Given the description of an element on the screen output the (x, y) to click on. 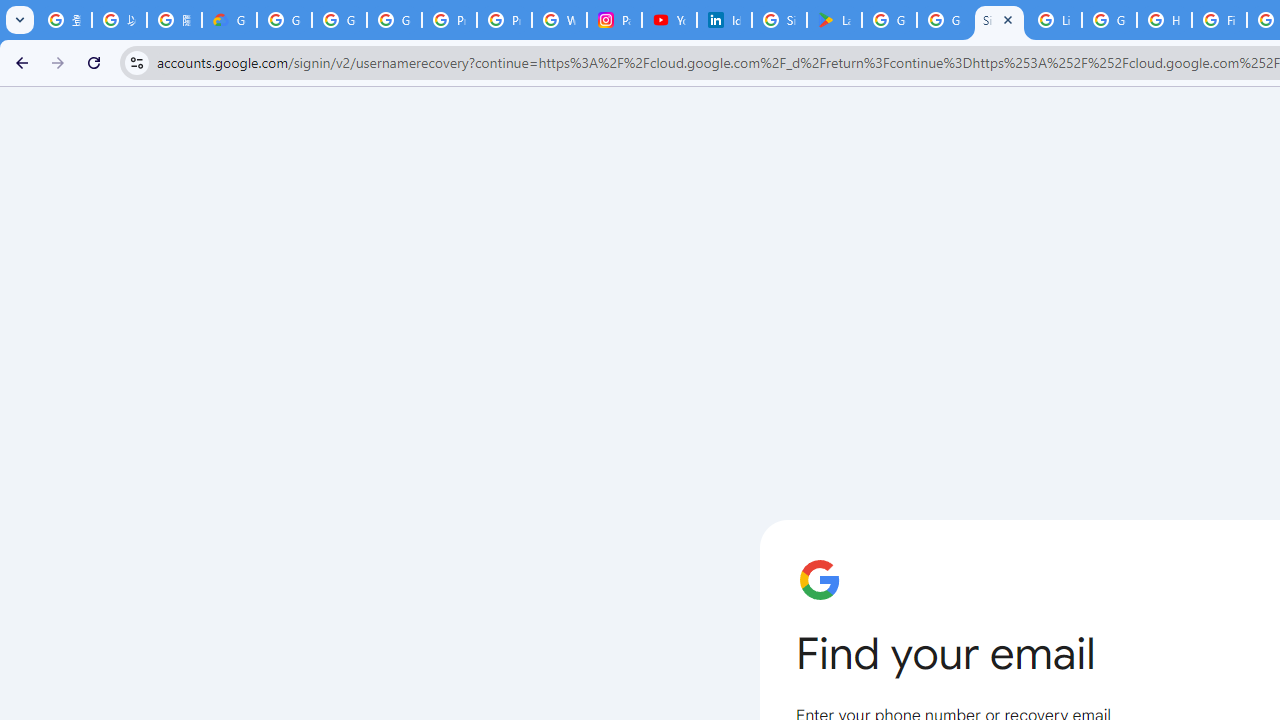
Last Shelter: Survival - Apps on Google Play (833, 20)
Google Workspace - Specific Terms (943, 20)
How do I create a new Google Account? - Google Account Help (1163, 20)
Privacy Help Center - Policies Help (504, 20)
Sign in - Google Accounts (779, 20)
